Given the description of an element on the screen output the (x, y) to click on. 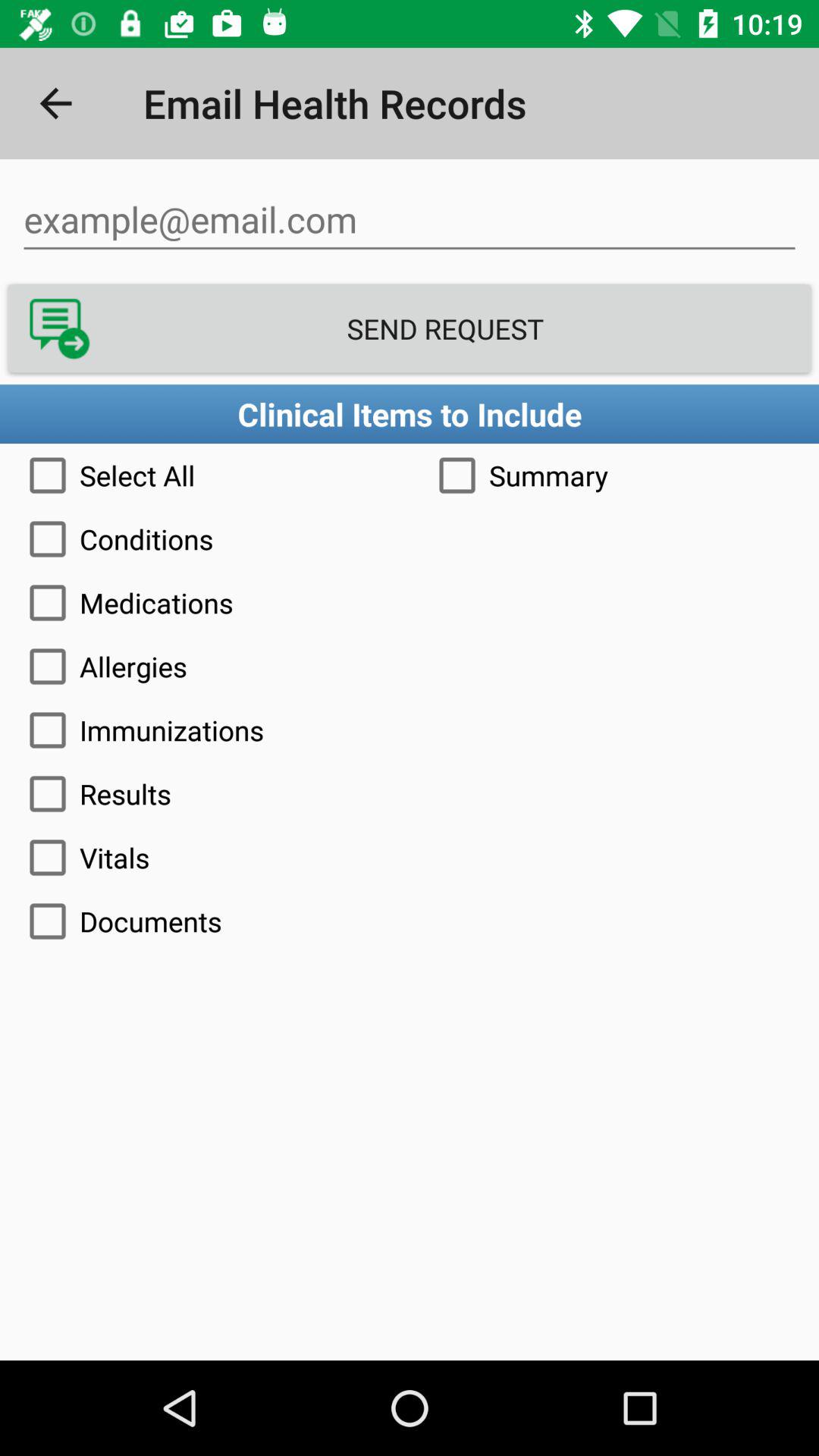
choose the icon above the medications (409, 539)
